Given the description of an element on the screen output the (x, y) to click on. 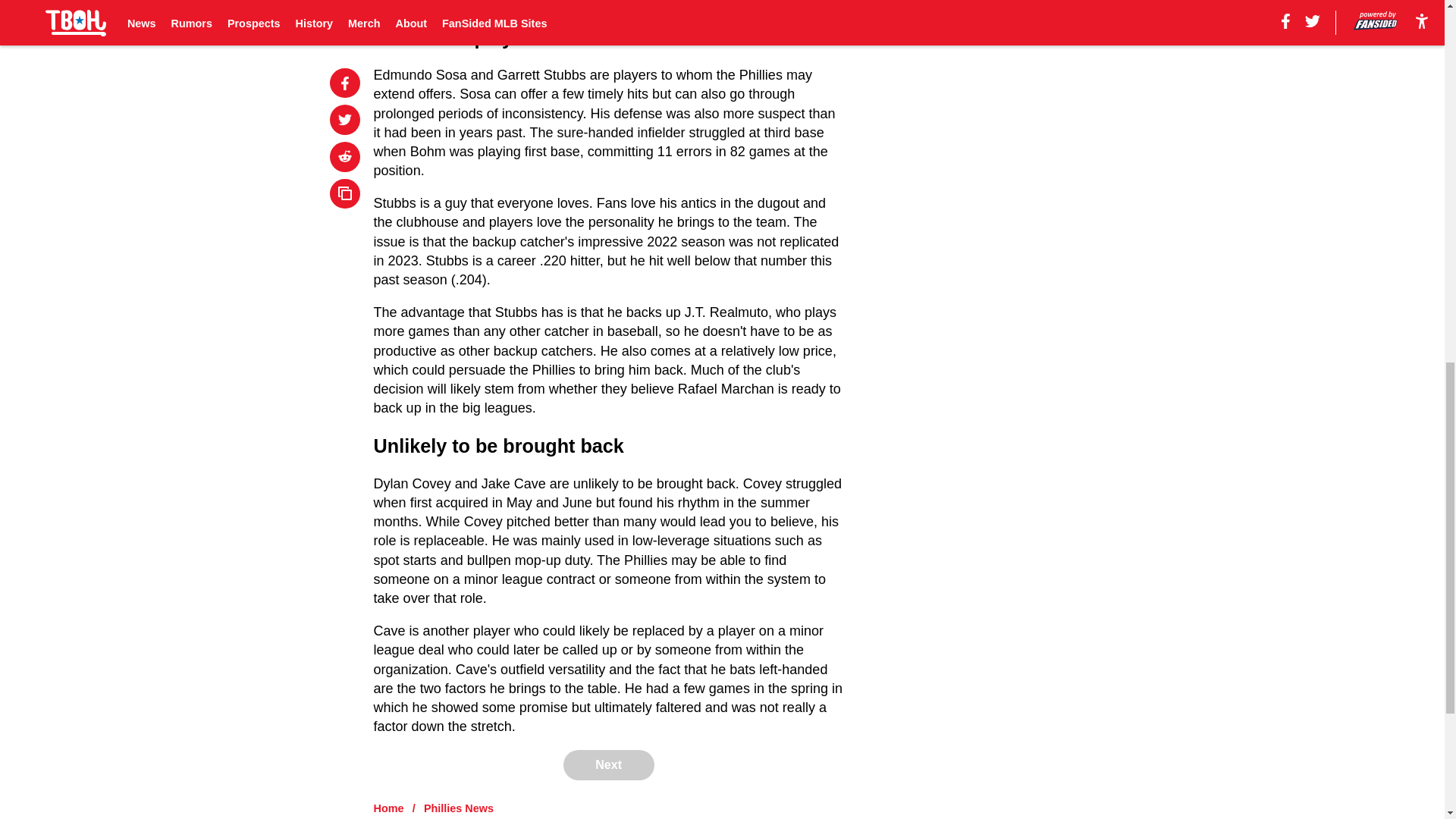
Home (389, 808)
Phillies News (458, 808)
Next (608, 765)
Next (798, 4)
Prev (419, 4)
